Given the description of an element on the screen output the (x, y) to click on. 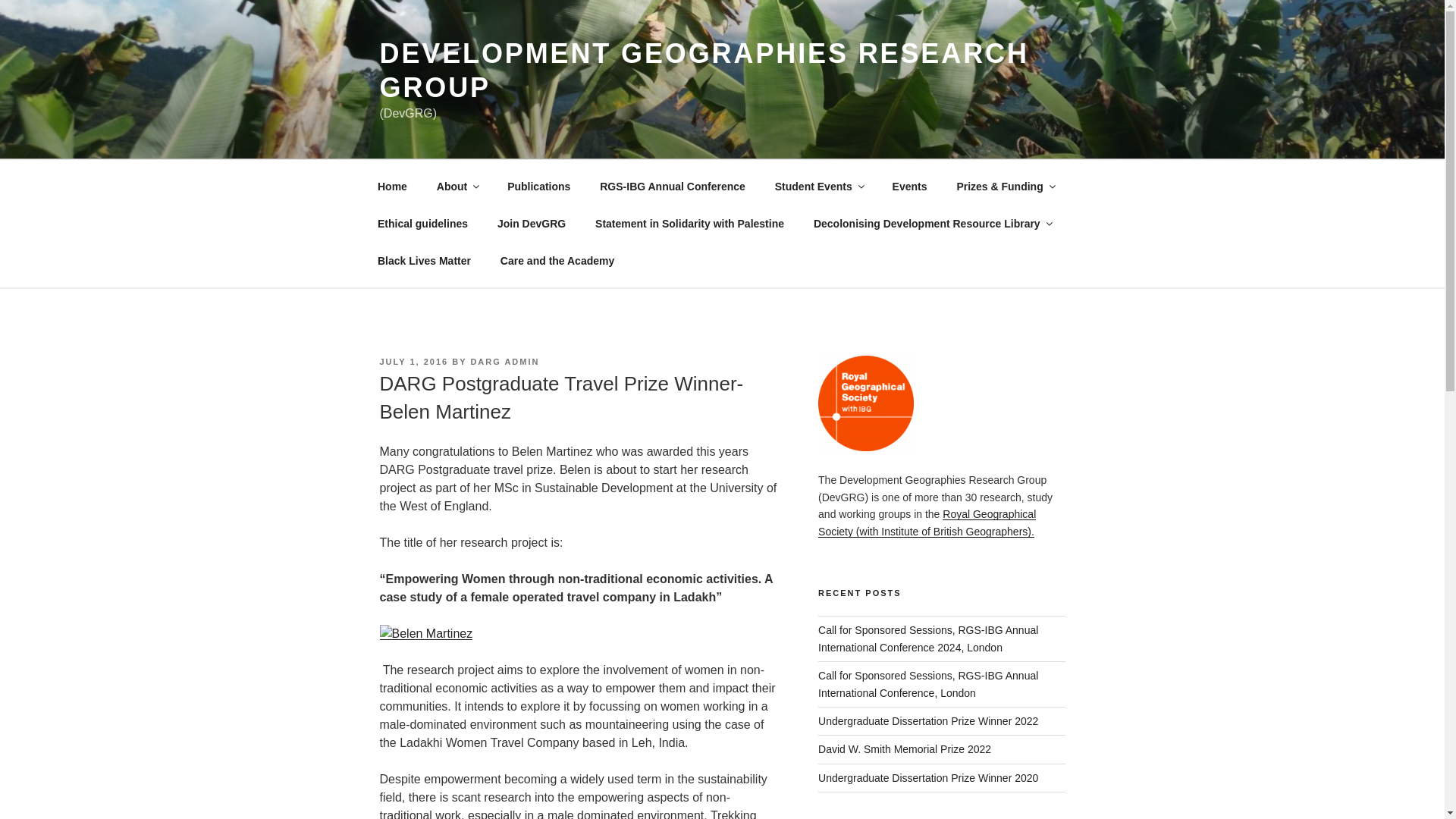
Publications (539, 186)
Care and the Academy (556, 261)
Ethical guidelines (422, 222)
Black Lives Matter (423, 261)
DARG ADMIN (504, 361)
JULY 1, 2016 (413, 361)
Join DevGRG (530, 222)
RGS-IBG Annual Conference (672, 186)
About (456, 186)
Decolonising Development Resource Library (931, 222)
Events (909, 186)
DEVELOPMENT GEOGRAPHIES RESEARCH GROUP (702, 70)
Student Events (818, 186)
Statement in Solidarity with Palestine (689, 222)
Home (392, 186)
